Given the description of an element on the screen output the (x, y) to click on. 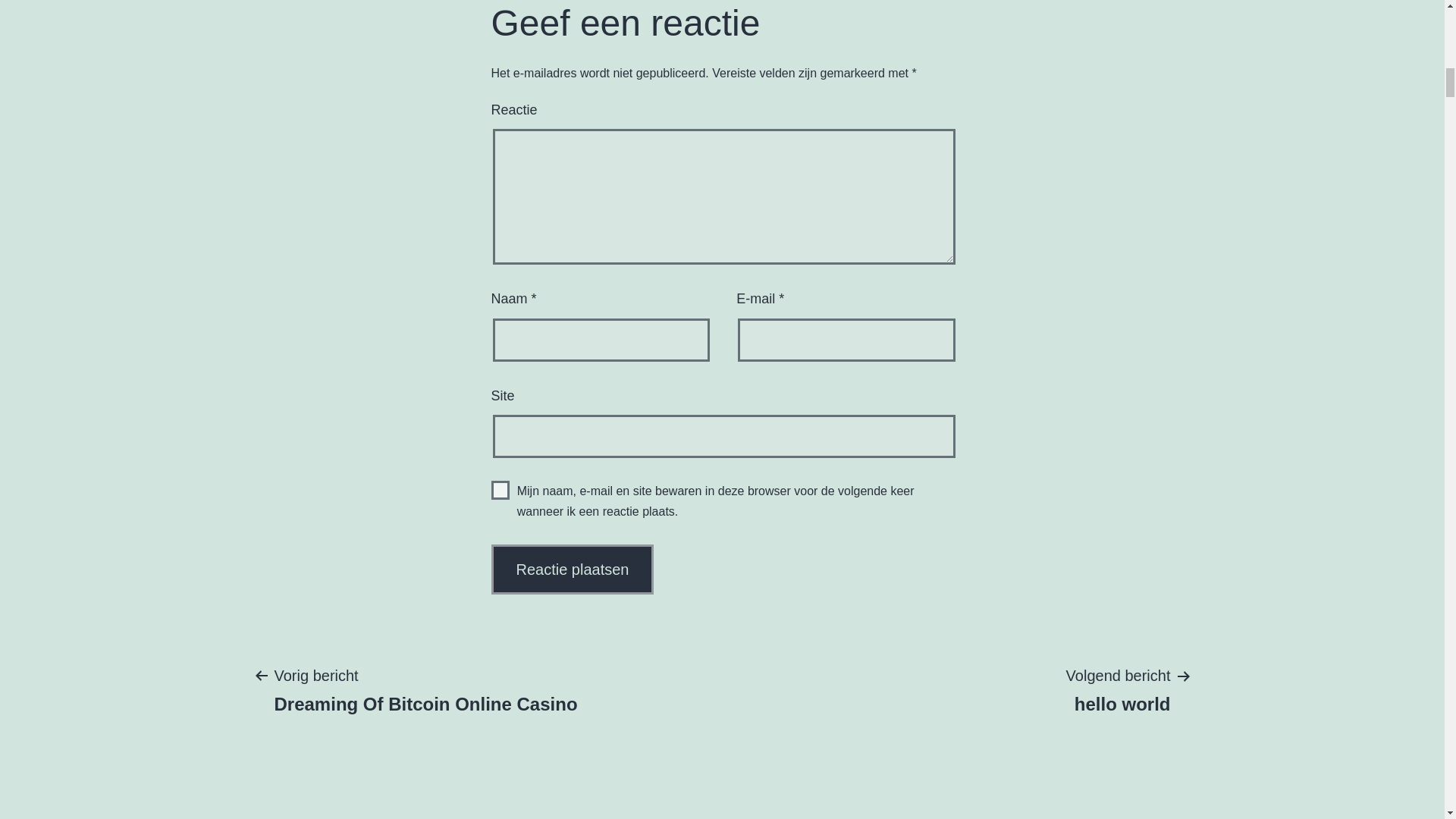
yes (424, 688)
Reactie plaatsen (500, 489)
Reactie plaatsen (572, 569)
